Given the description of an element on the screen output the (x, y) to click on. 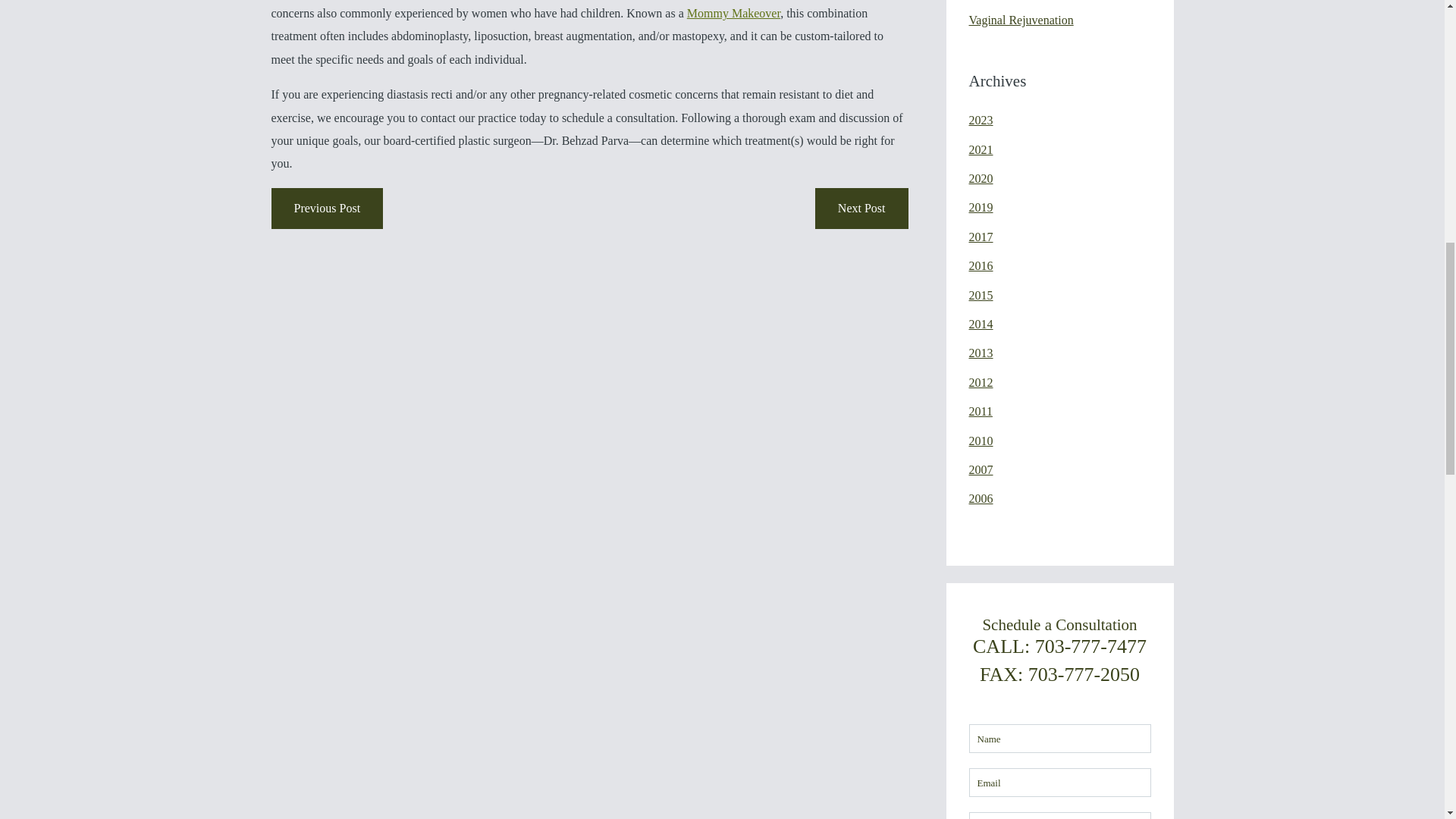
Submit (1150, 44)
